Given the description of an element on the screen output the (x, y) to click on. 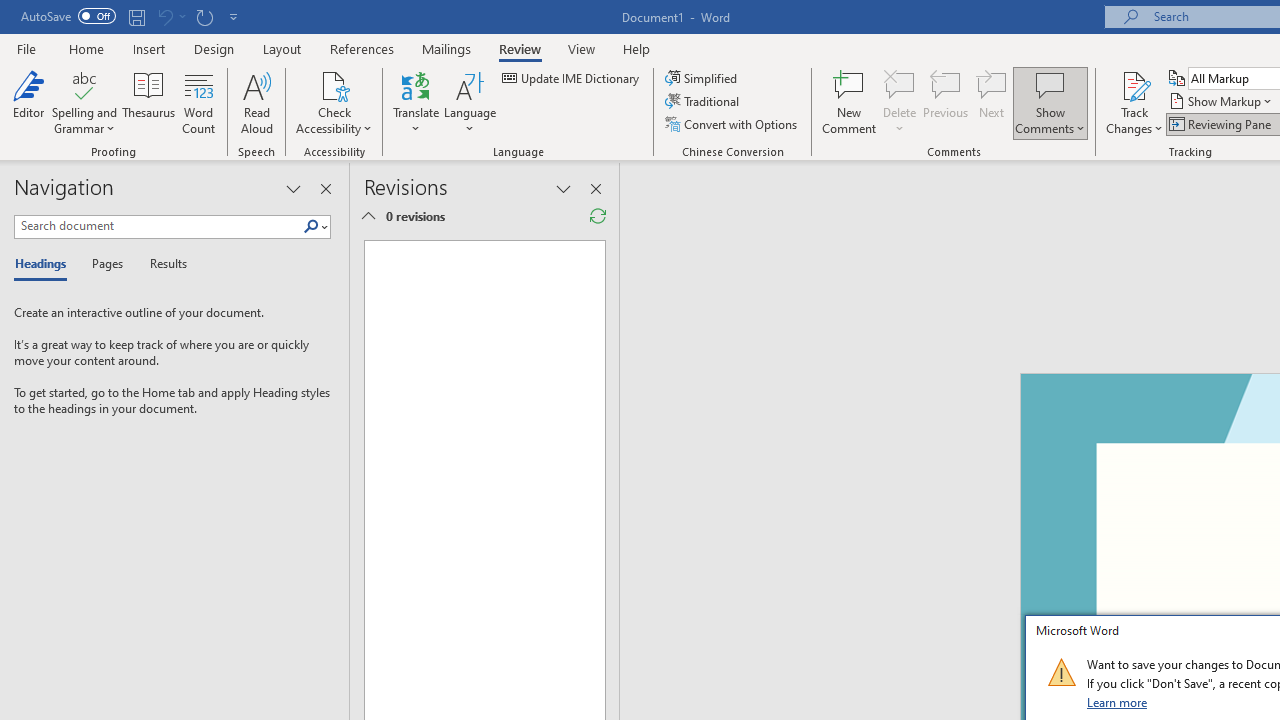
Next (991, 102)
Show Markup (1222, 101)
Delete (900, 84)
Simplified (702, 78)
Track Changes (1134, 84)
